Given the description of an element on the screen output the (x, y) to click on. 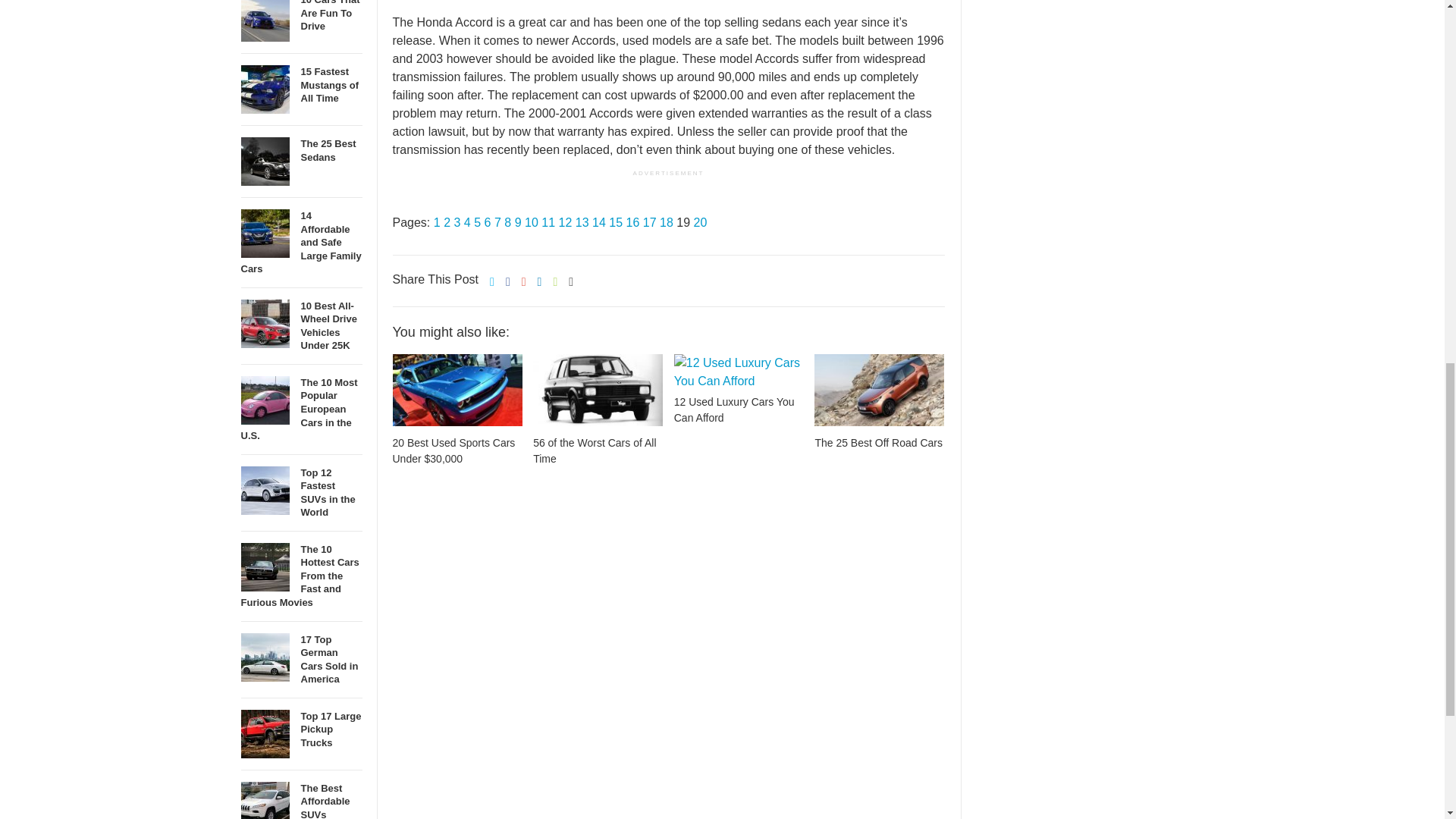
18 (665, 222)
15 (615, 222)
20 (699, 222)
14 (598, 222)
10 (531, 222)
11 (547, 222)
17 (649, 222)
12 (564, 222)
16 (633, 222)
13 (582, 222)
